Given the description of an element on the screen output the (x, y) to click on. 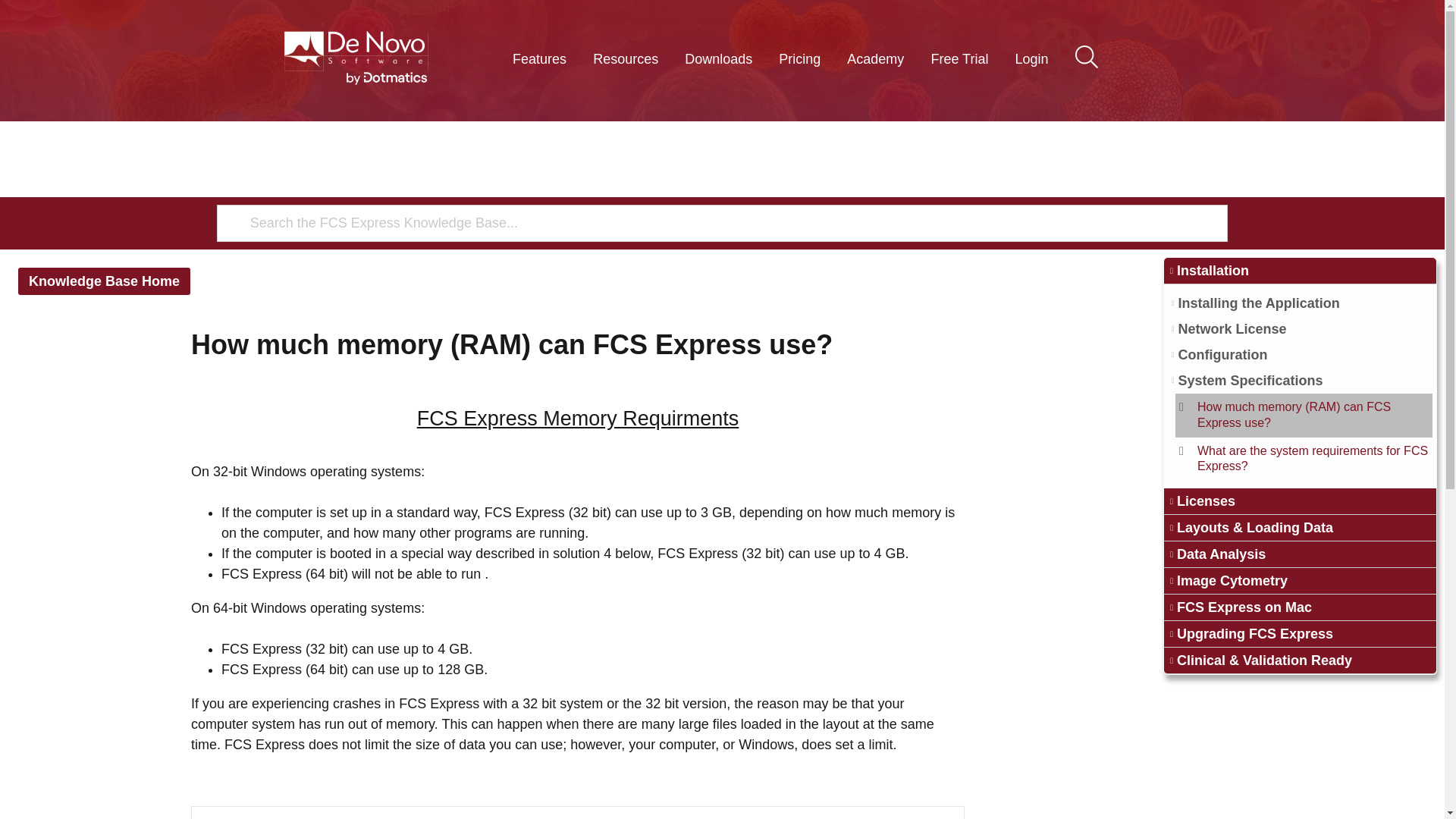
Resources (624, 58)
Academy (875, 58)
Pricing (799, 58)
Search (1085, 52)
Login (1031, 58)
Features (539, 58)
Downloads (717, 58)
Free Trial (958, 58)
